Given the description of an element on the screen output the (x, y) to click on. 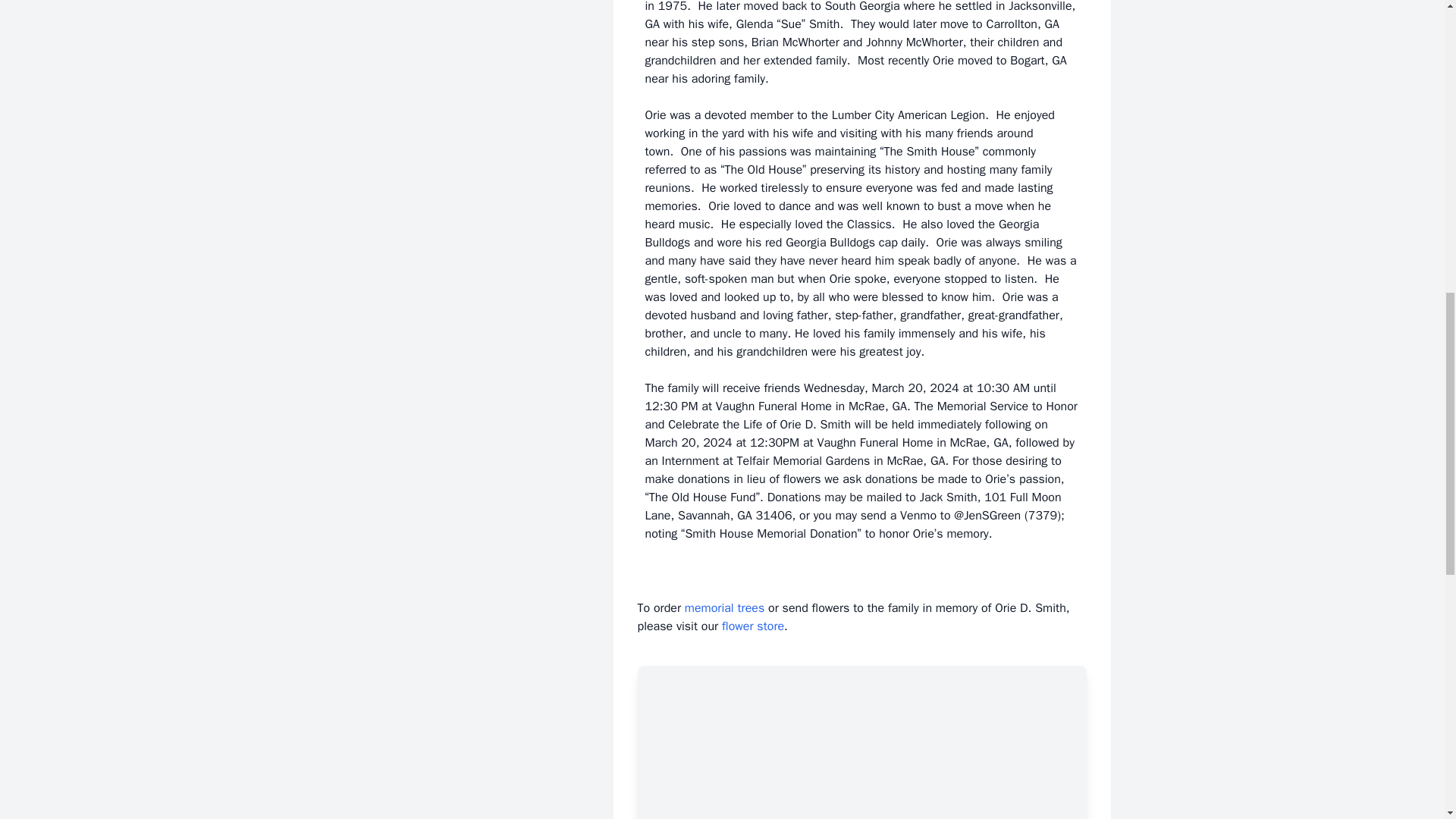
flower store (753, 626)
memorial trees (724, 607)
